Given the description of an element on the screen output the (x, y) to click on. 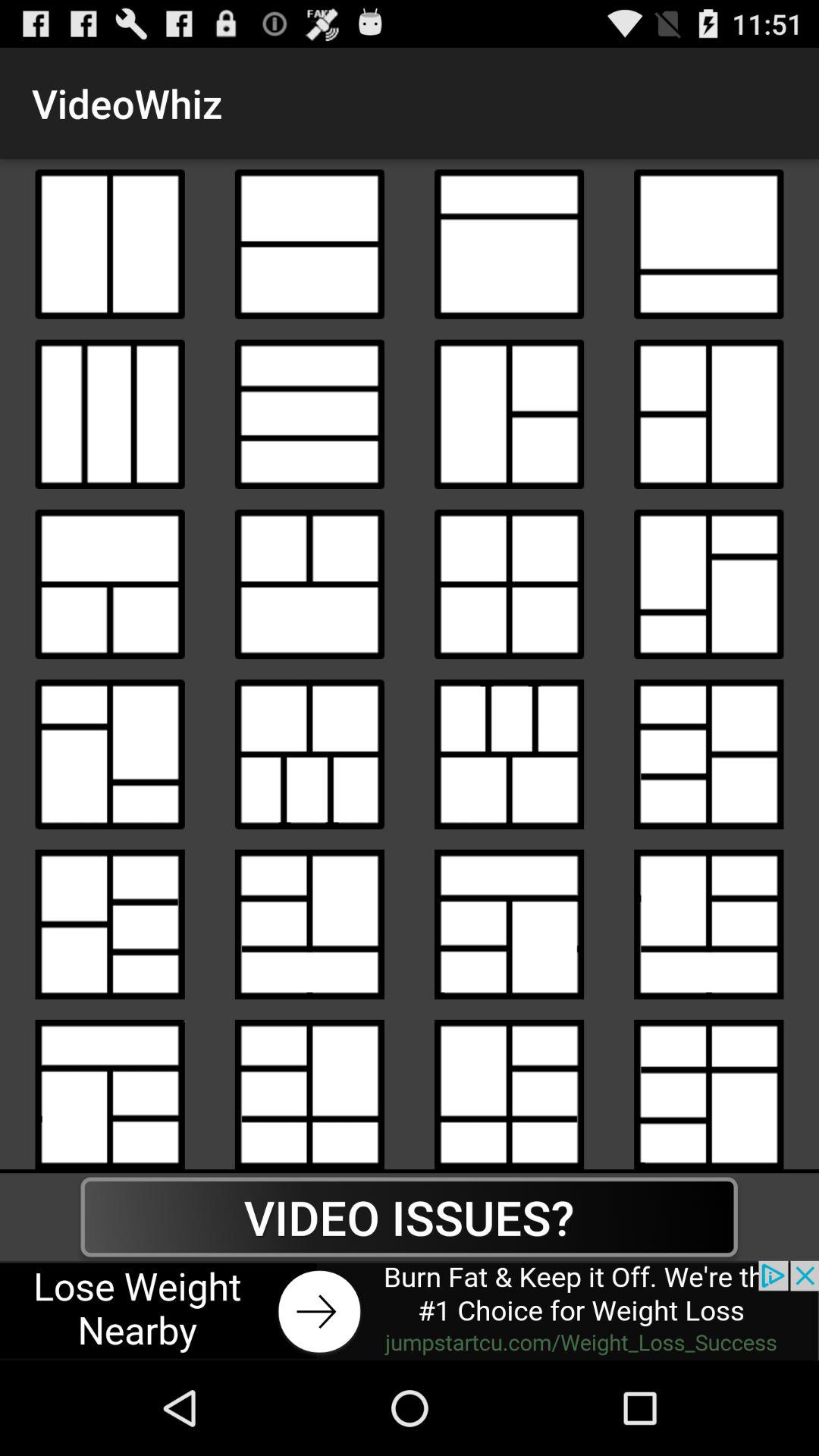
select item (708, 244)
